Given the description of an element on the screen output the (x, y) to click on. 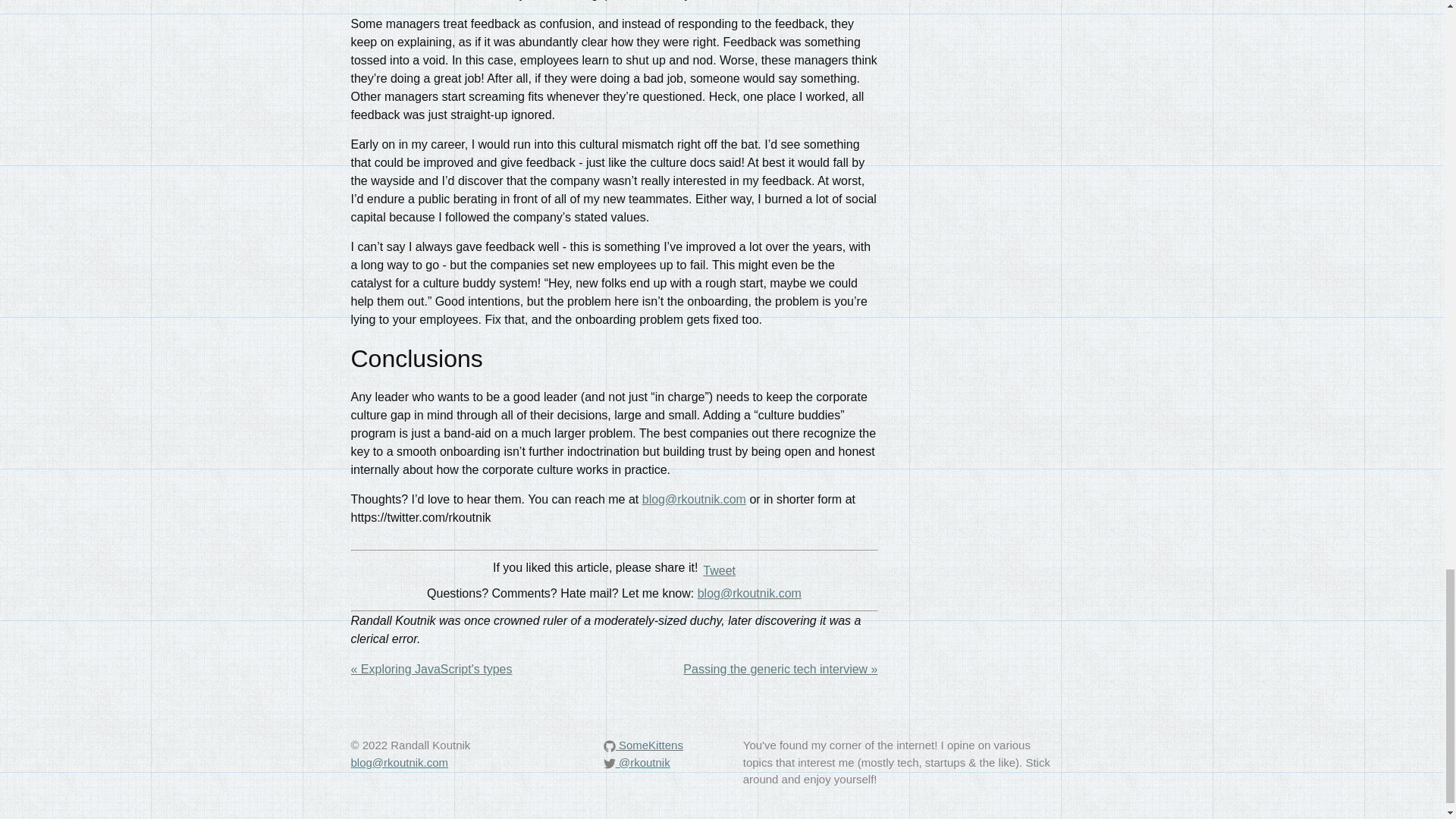
Tweet (719, 570)
SomeKittens (643, 744)
